Given the description of an element on the screen output the (x, y) to click on. 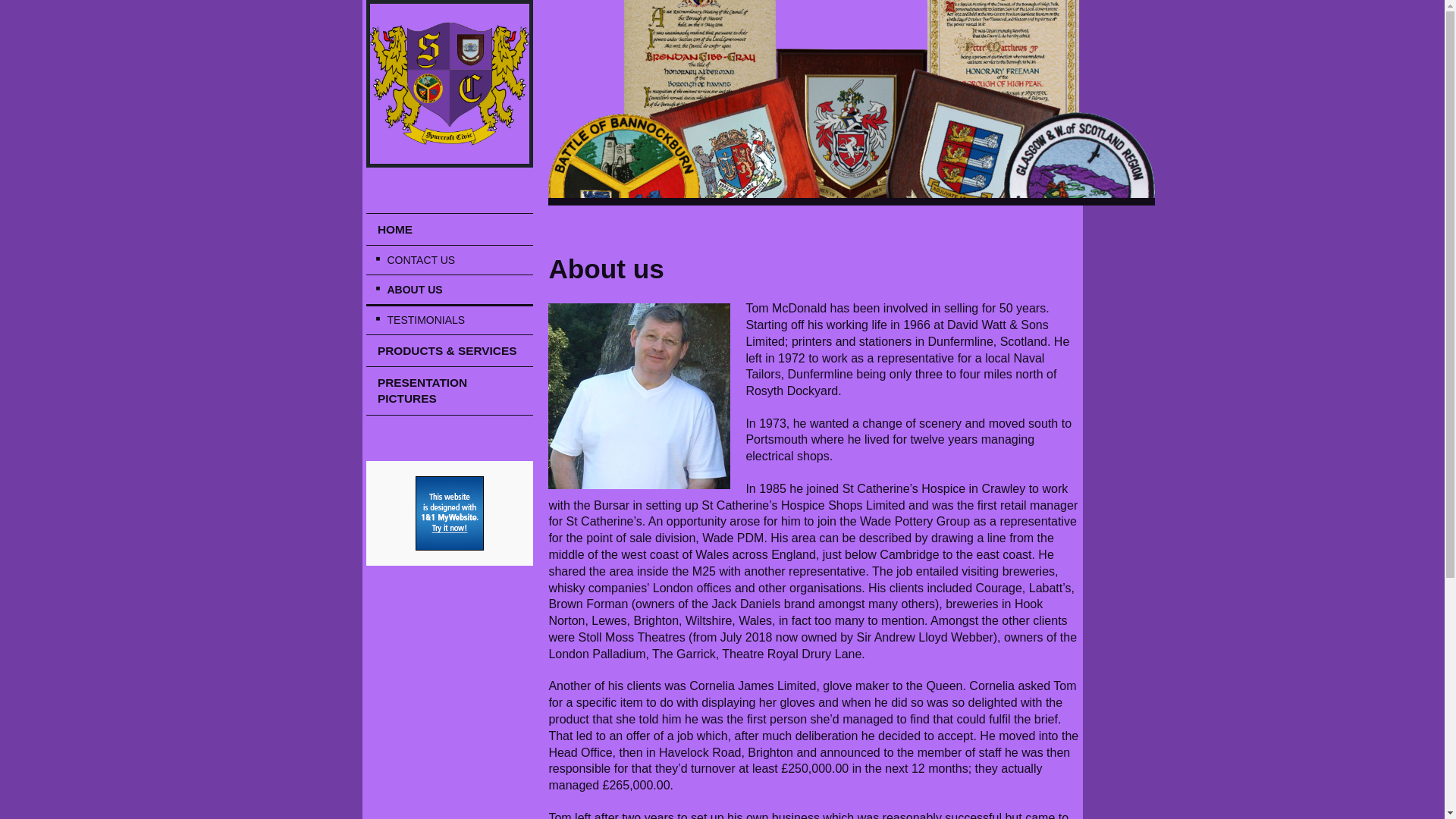
TESTIMONIALS (448, 319)
HOME (448, 229)
PRESENTATION PICTURES (448, 390)
CONTACT US (448, 259)
ABOUT US (448, 290)
